Given the description of an element on the screen output the (x, y) to click on. 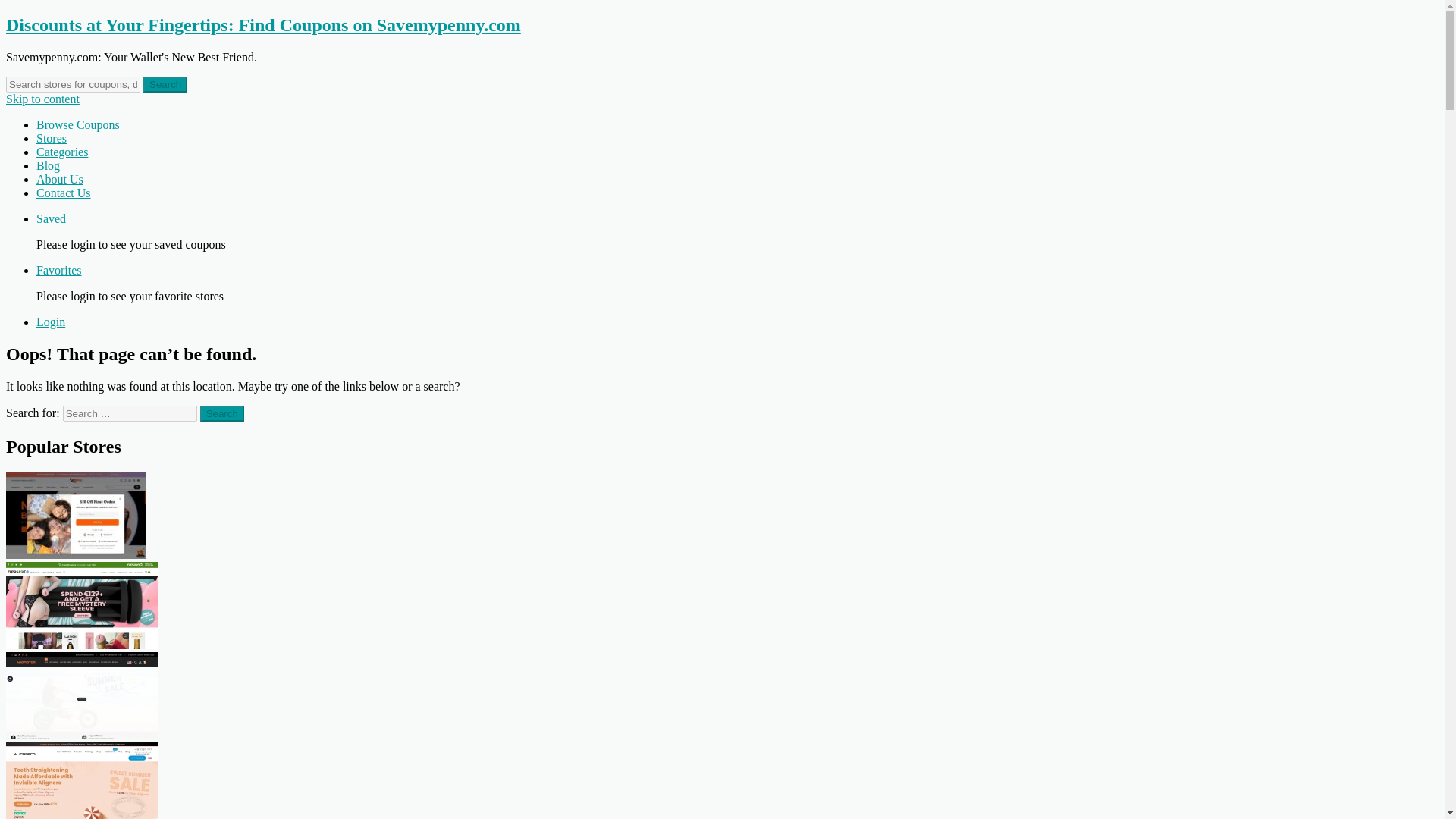
Saved (50, 218)
Search (222, 413)
Search (164, 84)
Categories (61, 151)
About Us (59, 178)
Search (222, 413)
Skip to content (42, 98)
Blog (47, 164)
Search (222, 413)
Stores (51, 137)
Browse Coupons (77, 124)
Contact Us (63, 192)
Favorites (58, 269)
www-vooglam-com (75, 514)
